Given the description of an element on the screen output the (x, y) to click on. 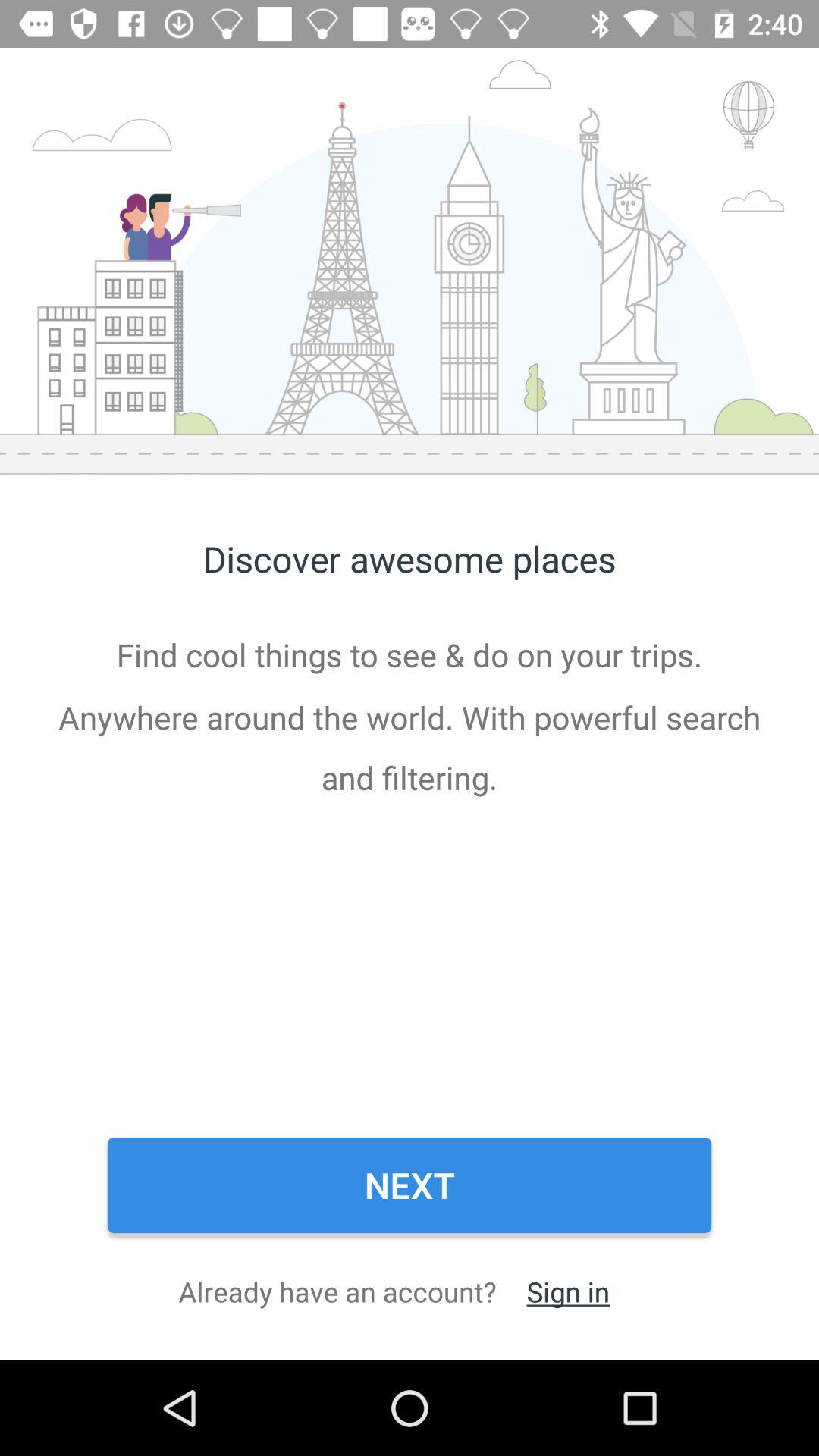
swipe to the sign in item (567, 1291)
